Given the description of an element on the screen output the (x, y) to click on. 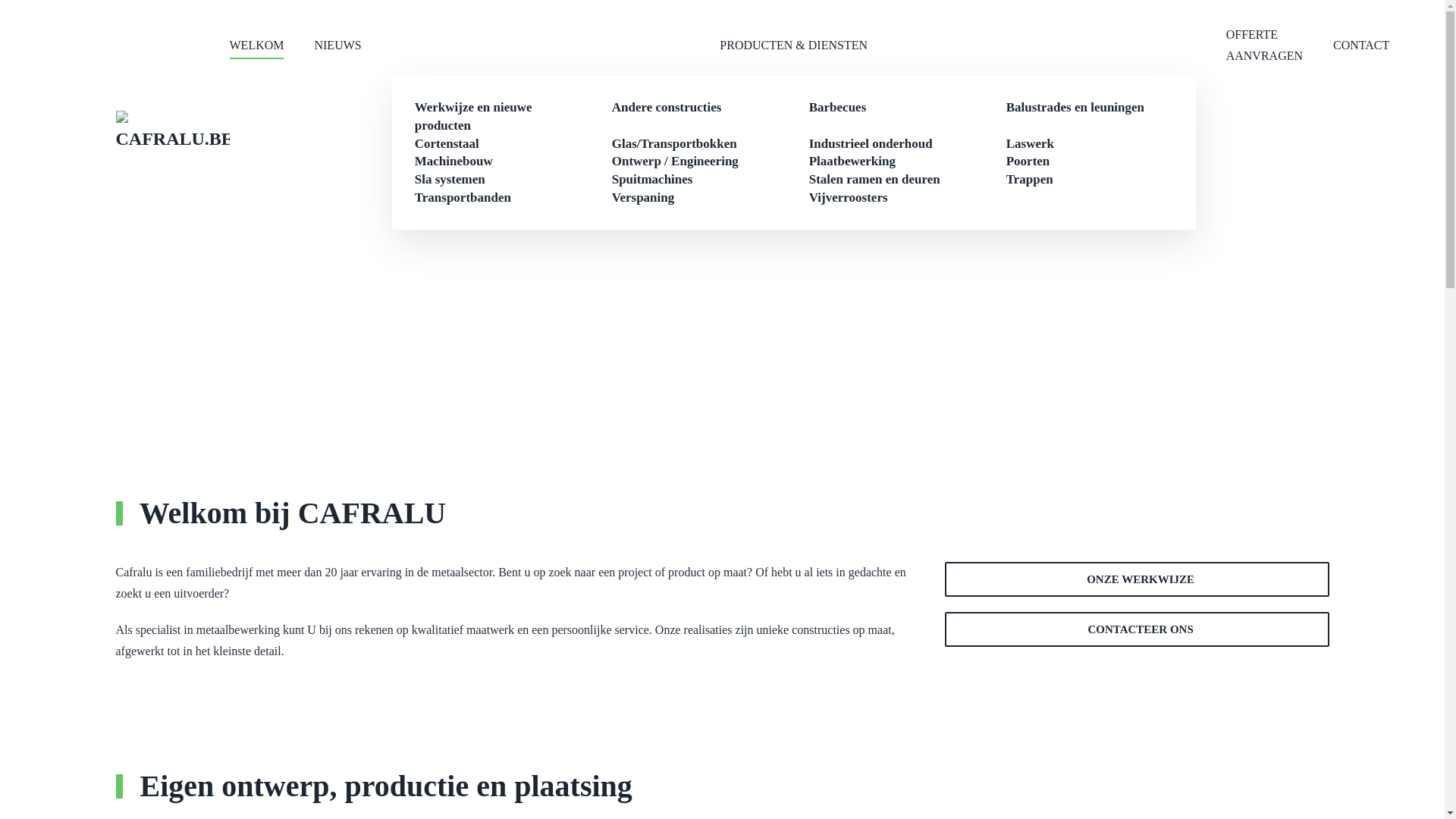
CONTACT Element type: text (1361, 45)
Andere constructies Element type: text (666, 107)
Industrieel onderhoud Element type: text (870, 143)
WELKOM Element type: text (256, 45)
Poorten Element type: text (1028, 160)
Verspaning Element type: text (642, 197)
Plaatbewerking Element type: text (852, 160)
Machinebouw Element type: text (453, 160)
Glas/Transportbokken Element type: text (674, 143)
Werkwijze en nieuwe producten Element type: text (473, 116)
Vijverroosters Element type: text (848, 197)
Trappen Element type: text (1029, 179)
Stalen ramen en deuren Element type: text (874, 179)
Laswerk Element type: text (1030, 143)
OFFERTE AANVRAGEN Element type: text (1264, 45)
NIEUWS Element type: text (336, 45)
Transportbanden Element type: text (462, 197)
CONTACTEER ONS Element type: text (1136, 628)
Ontwerp / Engineering Element type: text (674, 160)
PRODUCTEN & DIENSTEN Element type: text (793, 45)
Sla systemen Element type: text (449, 179)
Balustrades en leuningen Element type: text (1075, 107)
Spuitmachines Element type: text (652, 179)
Barbecues Element type: text (837, 107)
ONZE WERKWIJZE Element type: text (1136, 578)
Cortenstaal Element type: text (446, 143)
